Given the description of an element on the screen output the (x, y) to click on. 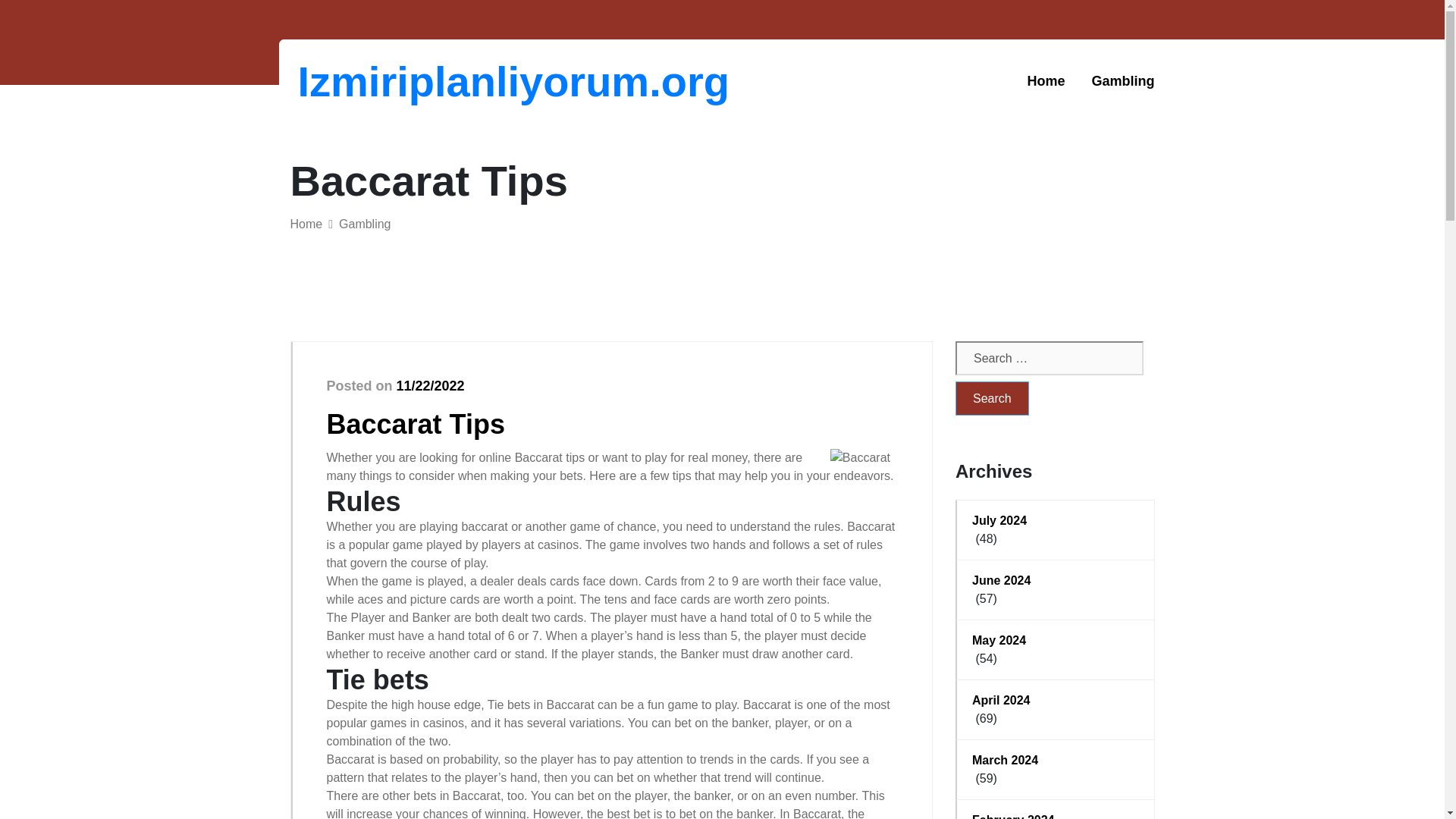
Search (992, 398)
Search (992, 398)
Izmiriplanliyorum.org (376, 81)
July 2024 (1055, 520)
March 2024 (1055, 760)
Baccarat Tips (414, 423)
Gambling (1122, 81)
Search (992, 398)
May 2024 (1055, 640)
June 2024 (1055, 580)
February 2024 (1055, 815)
Gambling (364, 223)
April 2024 (1055, 700)
Gambling (1122, 81)
Home (305, 223)
